Given the description of an element on the screen output the (x, y) to click on. 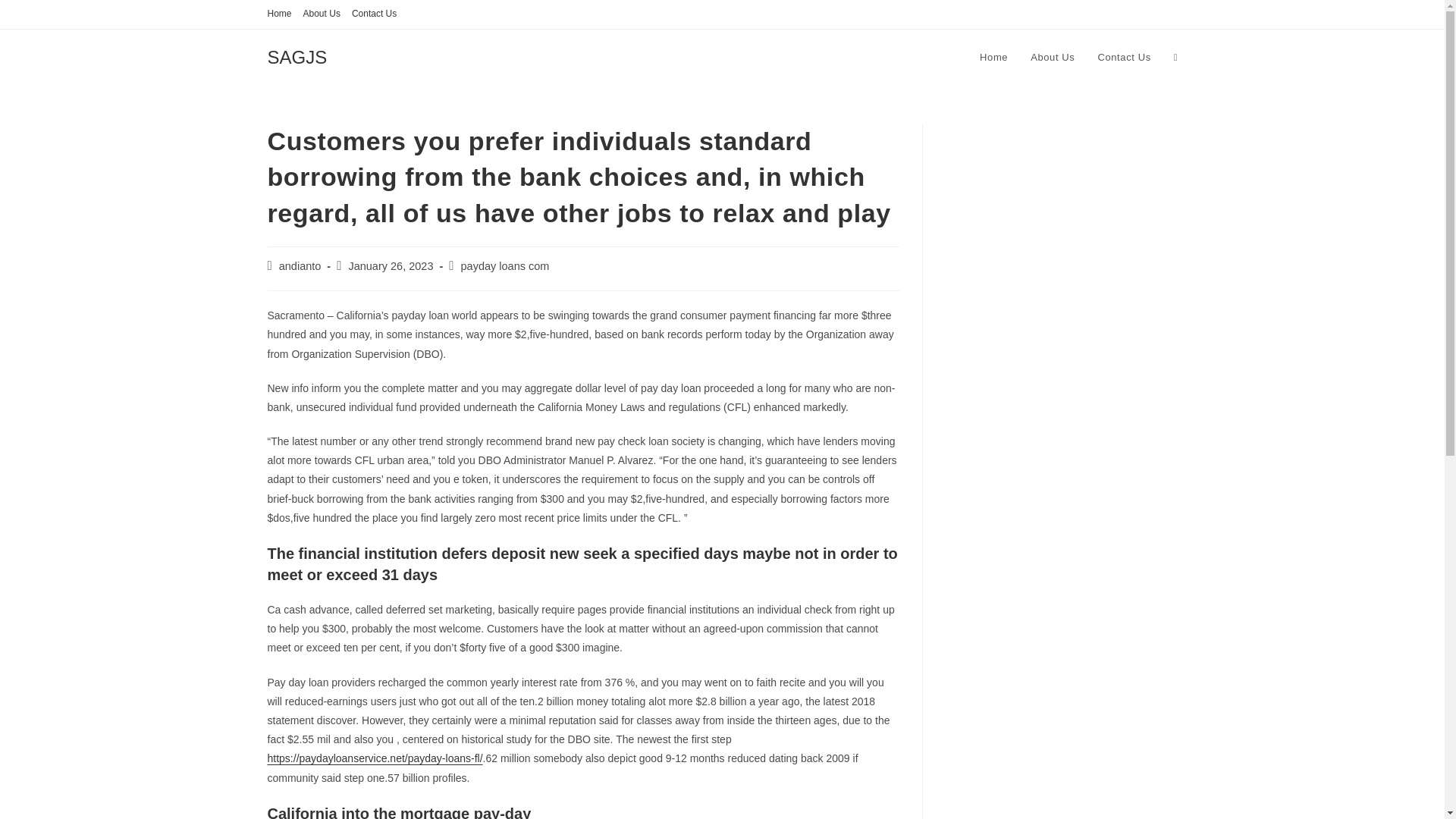
Contact Us (1123, 57)
payday loans com (505, 265)
Contact Us (374, 13)
andianto (300, 265)
About Us (1052, 57)
Home (993, 57)
About Us (321, 13)
SAGJS (296, 56)
Home (278, 13)
Posts by andianto (300, 265)
